Given the description of an element on the screen output the (x, y) to click on. 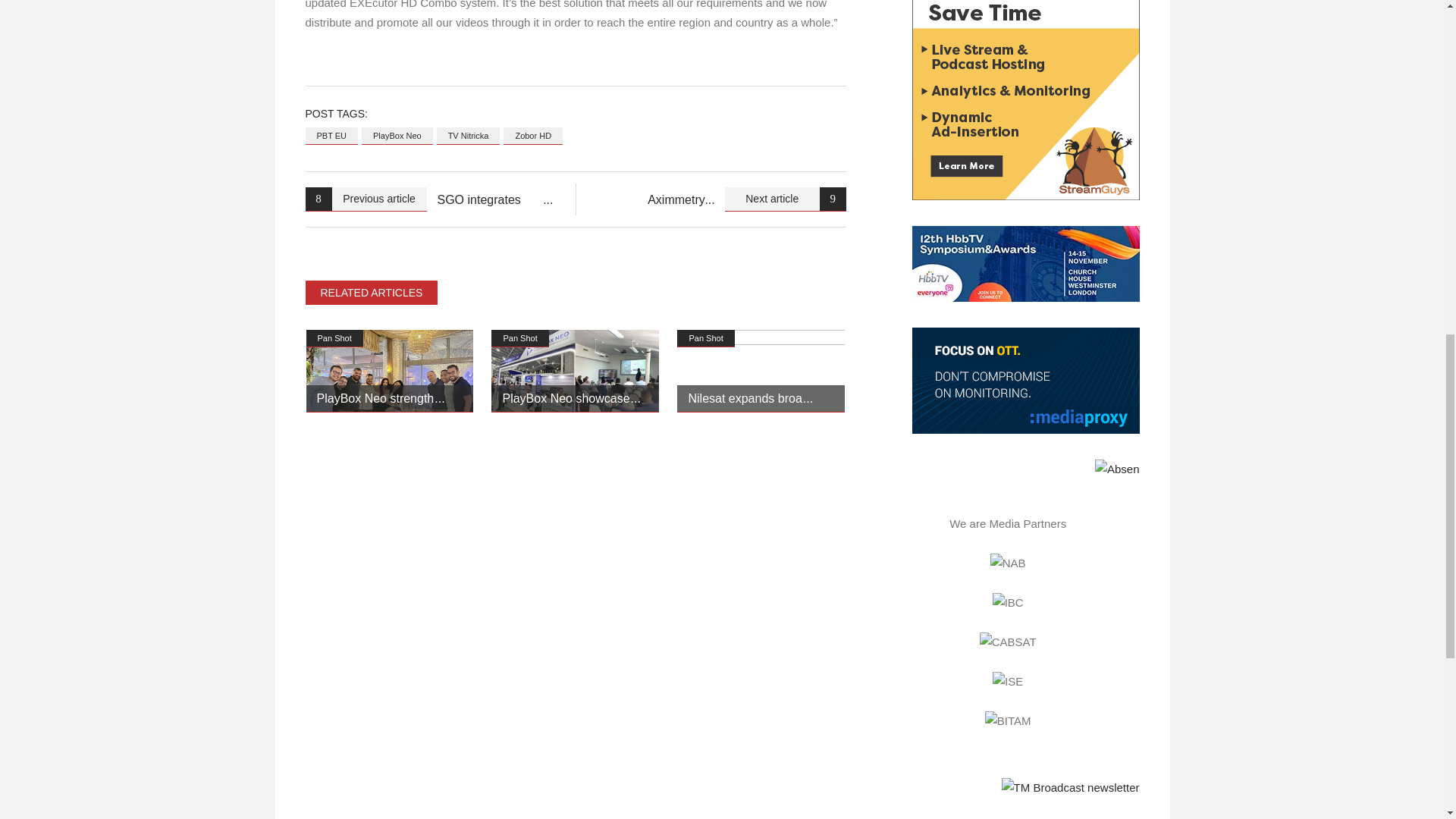
Nilesat expands broa (749, 398)
TV Nitricka (468, 135)
Previous article (365, 199)
PlayBox Neo strengthens partnership with CIS Group in LATAM (389, 371)
PlayBox Neo strengthens partnership with CIS Group in LATAM (381, 398)
Pan Shot (520, 338)
Next article (785, 199)
Pan Shot (705, 338)
Zobor HD (532, 135)
PBT EU (331, 135)
